Given the description of an element on the screen output the (x, y) to click on. 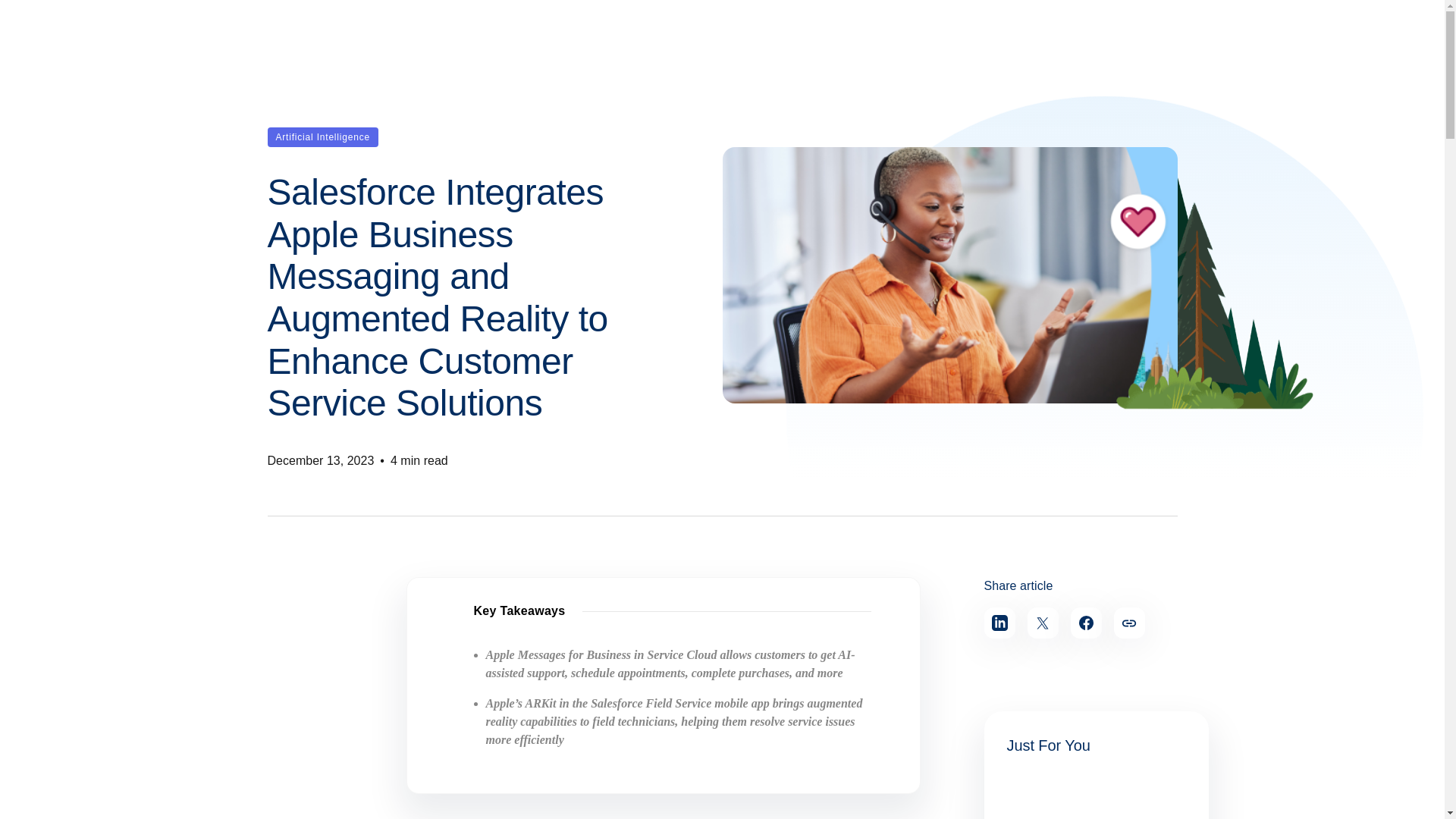
Artificial Intelligence (321, 137)
